Given the description of an element on the screen output the (x, y) to click on. 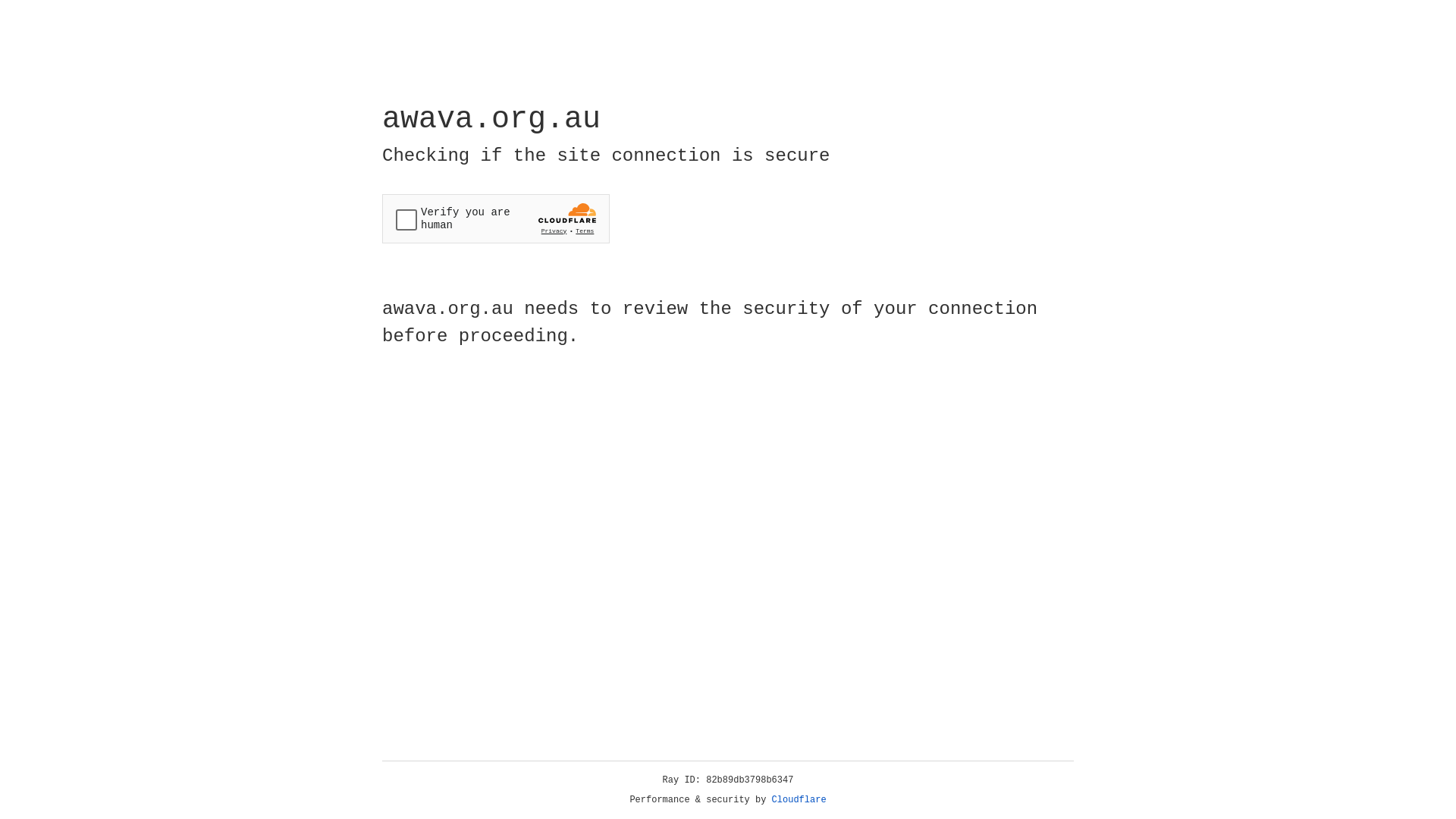
Widget containing a Cloudflare security challenge Element type: hover (495, 218)
Cloudflare Element type: text (798, 799)
